Given the description of an element on the screen output the (x, y) to click on. 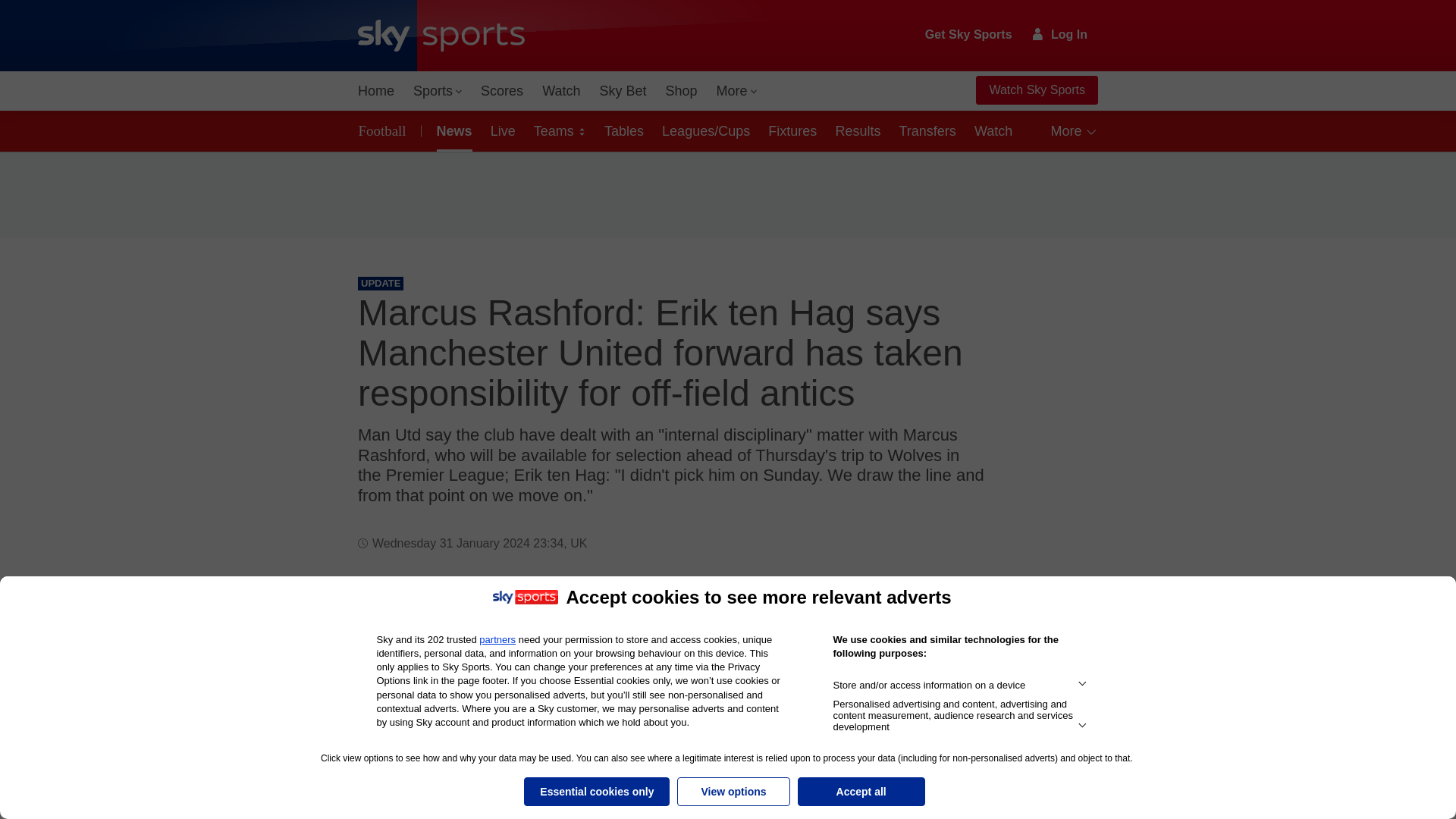
Log In (1060, 33)
Watch (561, 91)
Home (375, 91)
Scores (502, 91)
Football (385, 130)
Get Sky Sports (968, 34)
Shop (681, 91)
More (736, 91)
Watch Sky Sports (1036, 90)
Sports (437, 91)
